Given the description of an element on the screen output the (x, y) to click on. 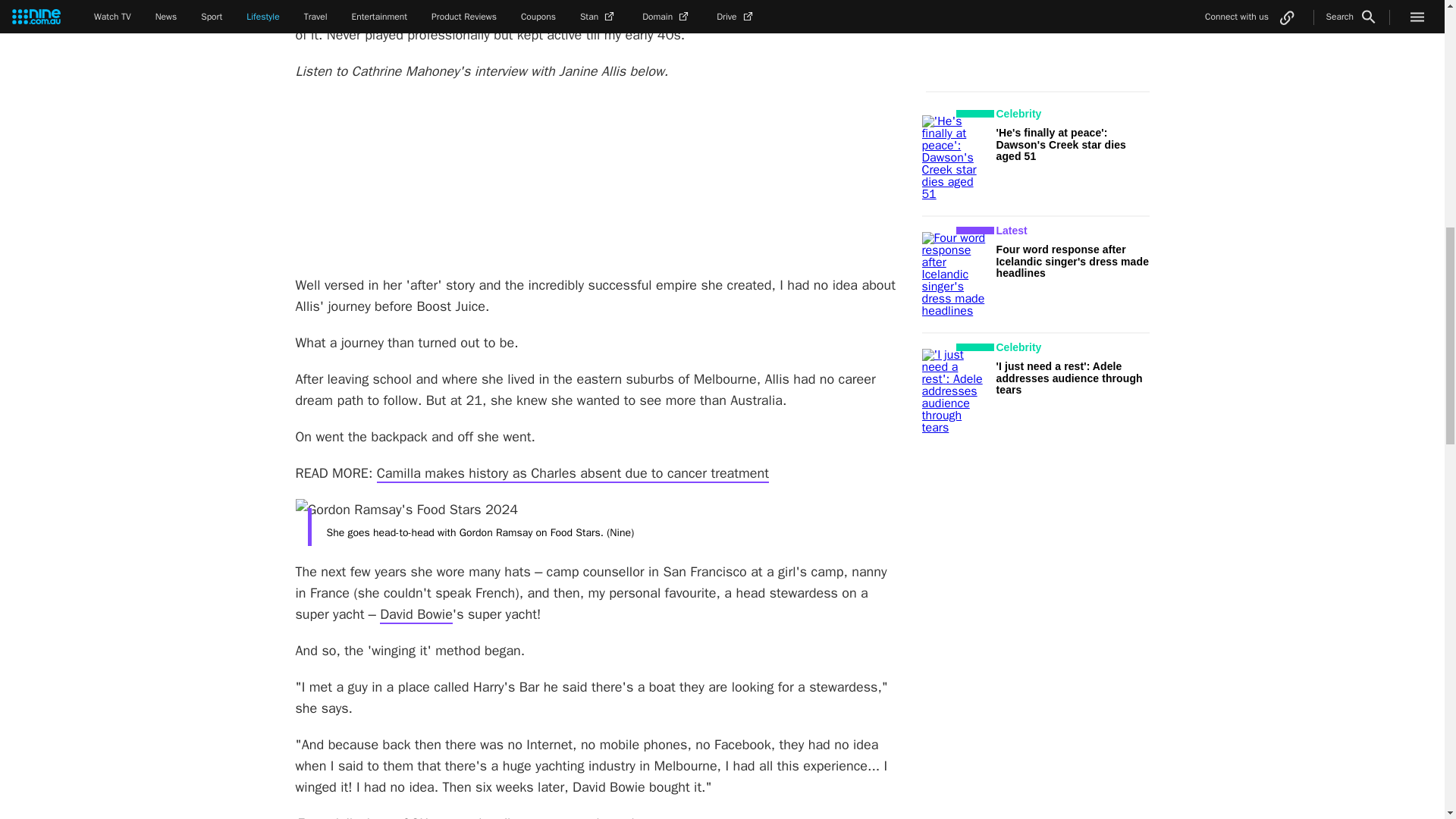
David Bowie (416, 615)
David Bowie (416, 615)
subscribe to our newsletter here (559, 816)
subscribe to our newsletter here (559, 816)
